Given the description of an element on the screen output the (x, y) to click on. 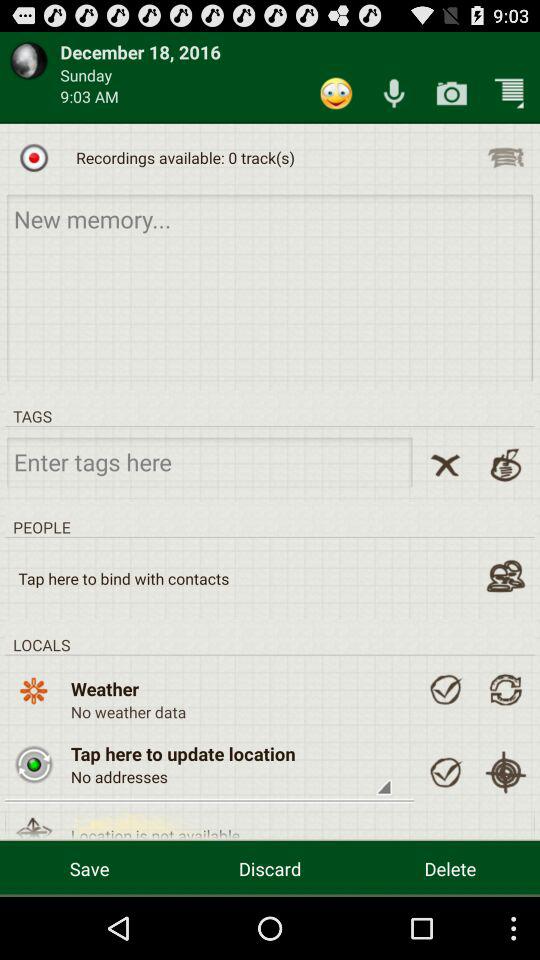
for rotation (505, 689)
